Given the description of an element on the screen output the (x, y) to click on. 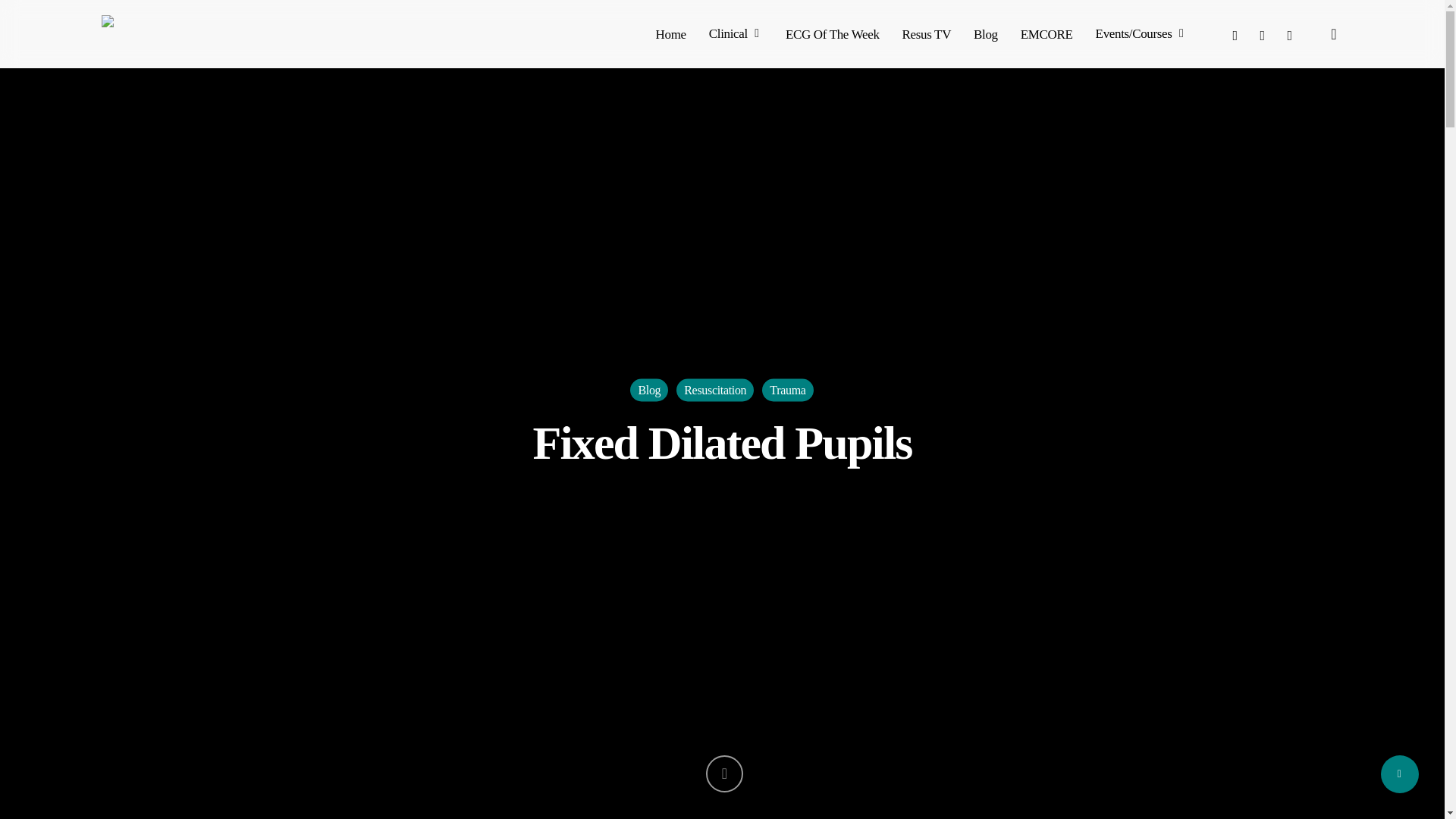
Resus TV (927, 33)
Home (670, 33)
ECG Of The Week (832, 33)
Blog (985, 33)
Clinical (735, 33)
